Given the description of an element on the screen output the (x, y) to click on. 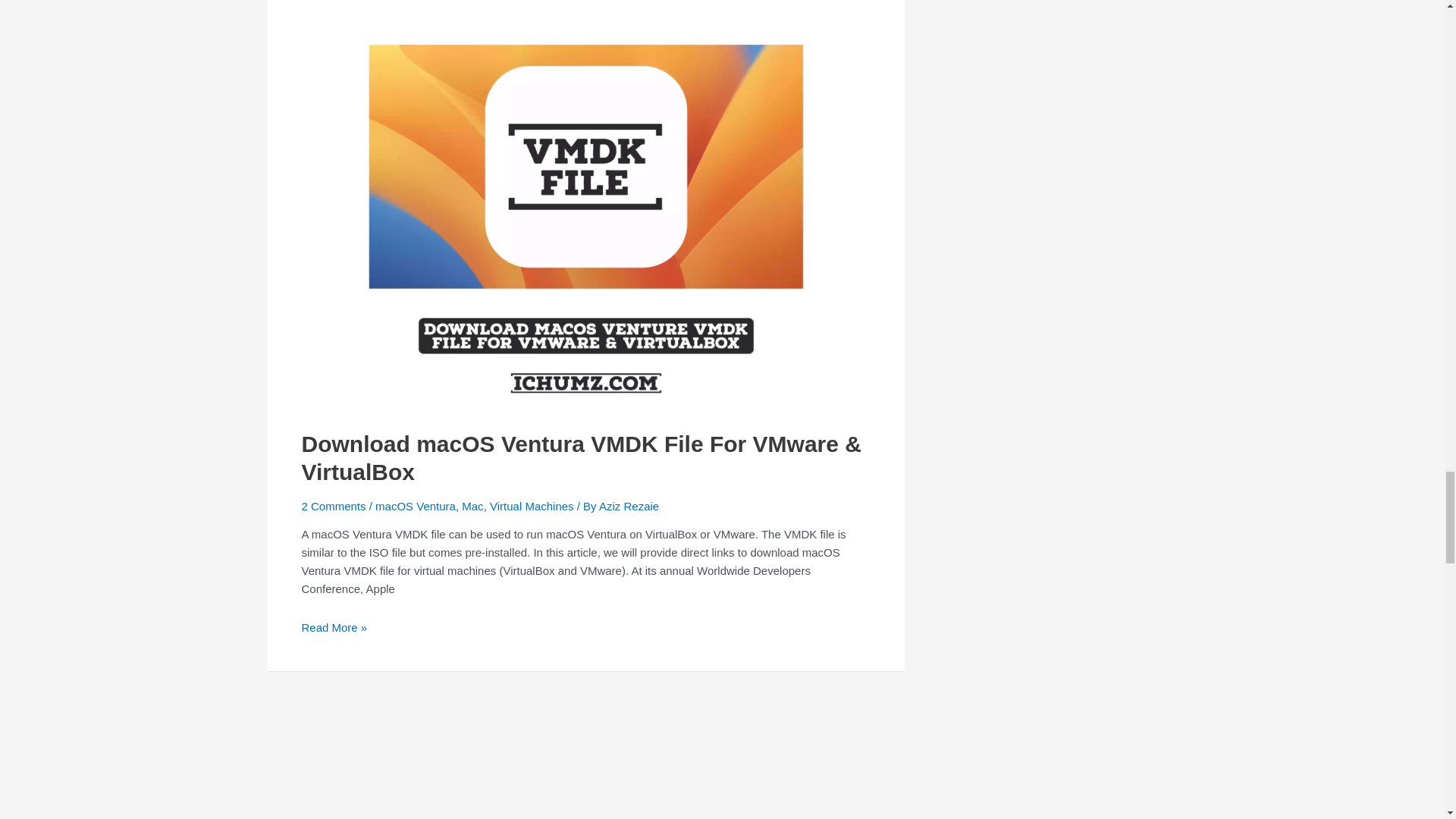
View all posts by Aziz Rezaie (628, 505)
